Given the description of an element on the screen output the (x, y) to click on. 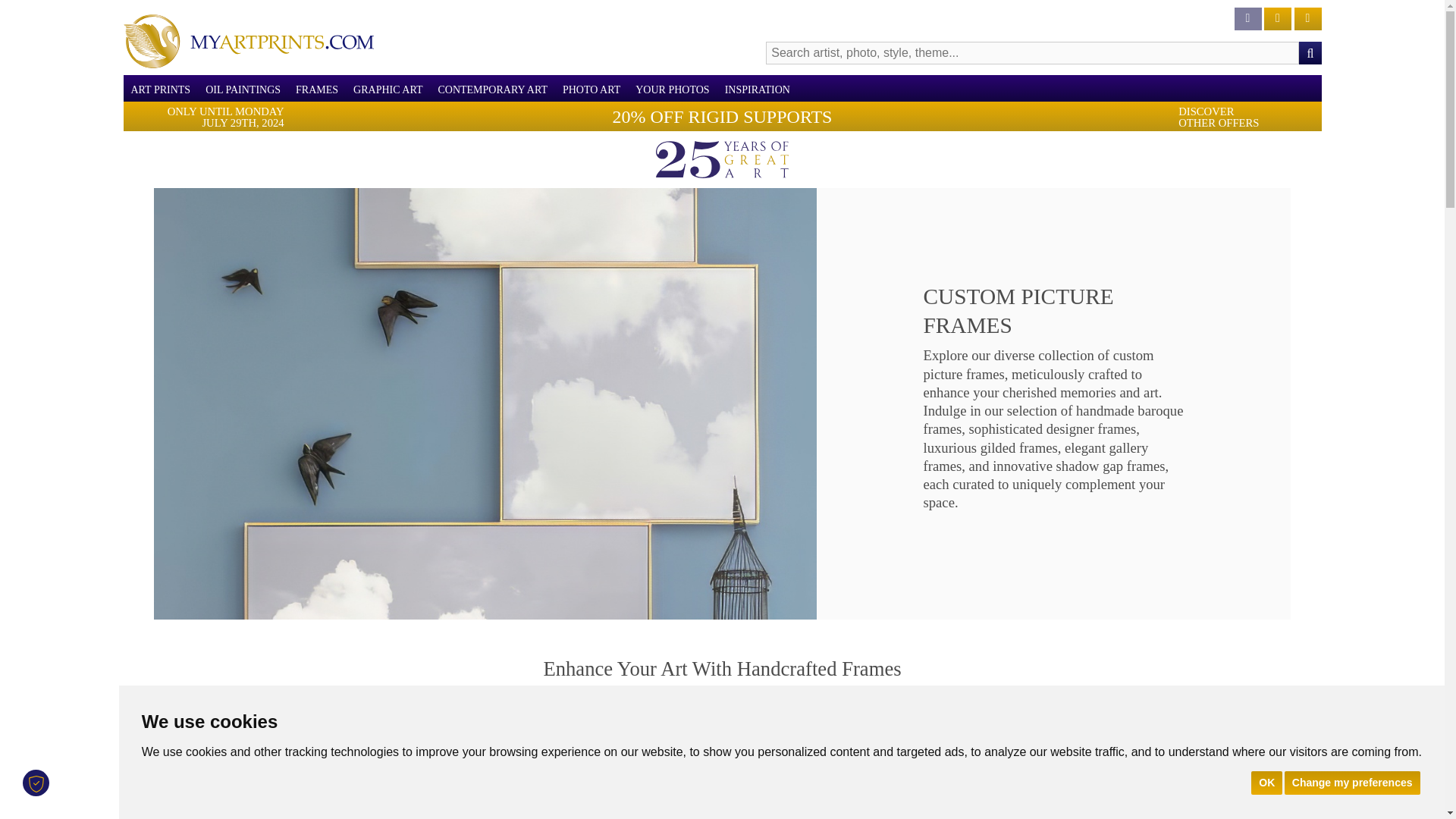
Gallery frames for your artworks (460, 803)
25 years of great art with Art-Prints-On-Demand.com (722, 159)
Fine Art Prints On Demand (247, 40)
OK (1266, 781)
Change my preferences (1352, 781)
Name, title, style (1309, 52)
